Given the description of an element on the screen output the (x, y) to click on. 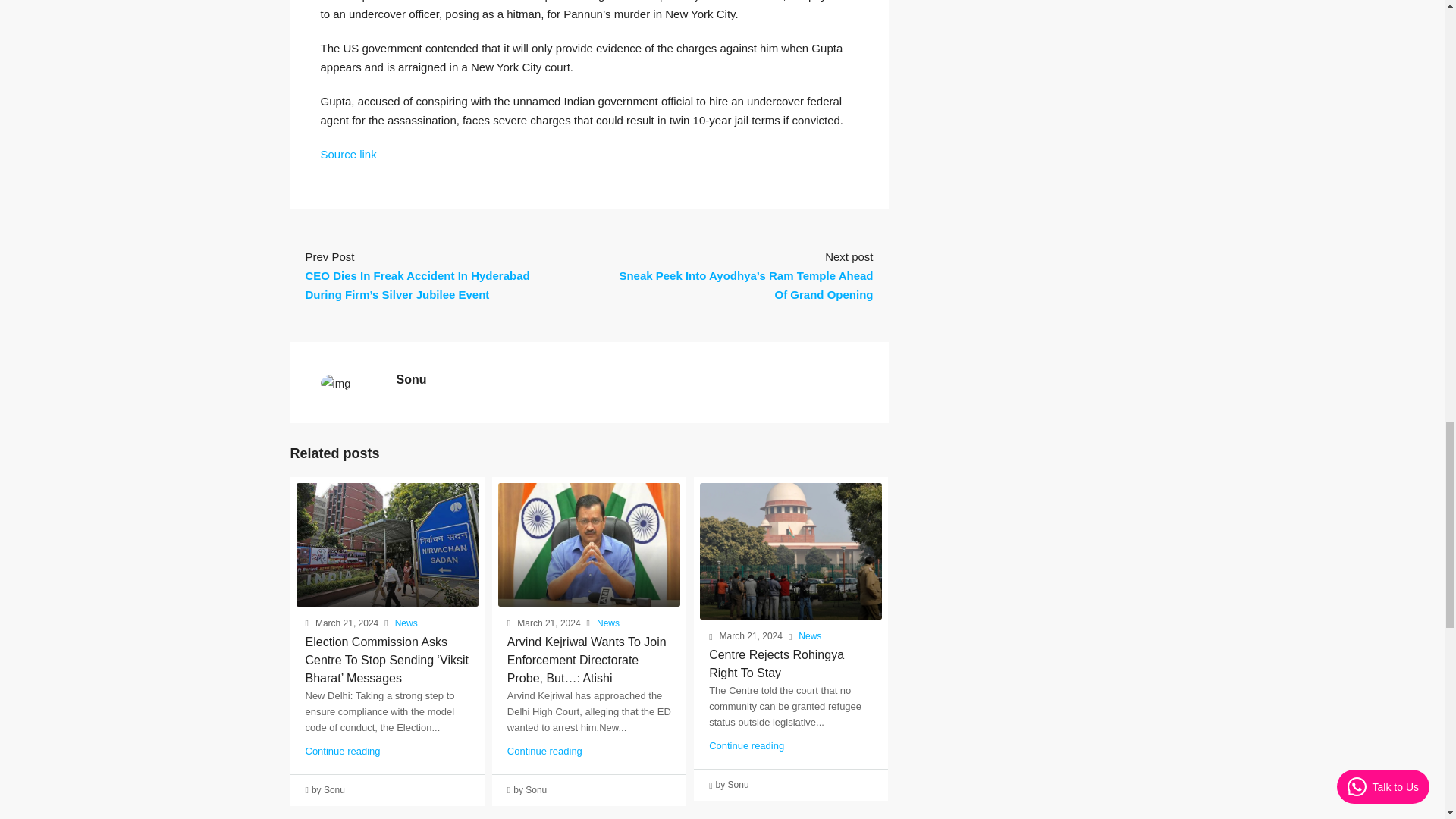
News (405, 623)
Centre Rejects Rohingya Right To Stay (776, 663)
News (809, 636)
Continue reading (746, 745)
Continue reading (342, 749)
Continue reading (544, 749)
Source link (347, 154)
News (608, 623)
